Given the description of an element on the screen output the (x, y) to click on. 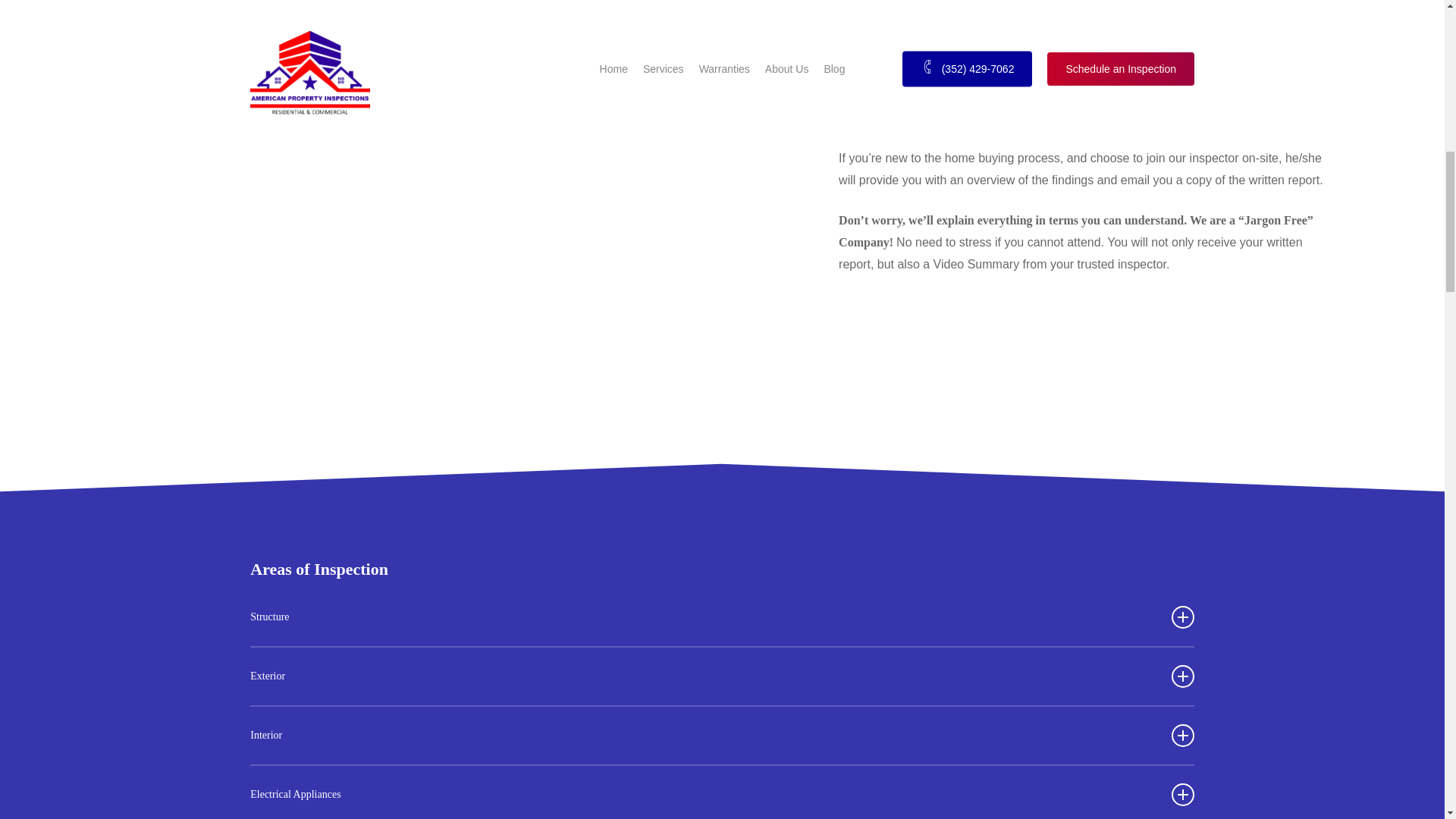
Interior (721, 735)
Exterior (721, 676)
Structure (721, 617)
Electrical Appliances (721, 792)
